Given the description of an element on the screen output the (x, y) to click on. 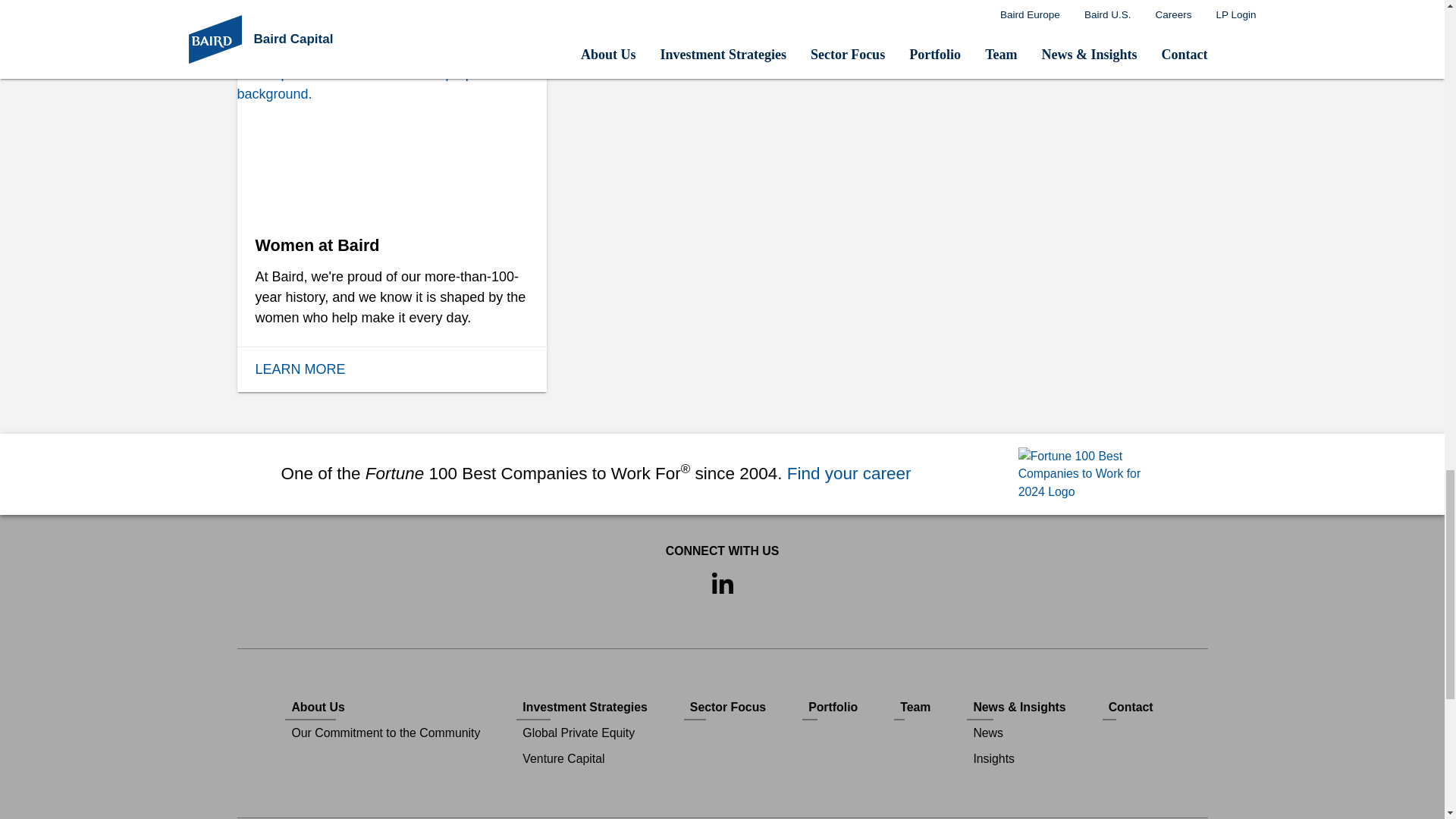
Investment Strategies (584, 707)
Contact (1130, 707)
About Us (385, 707)
